Given the description of an element on the screen output the (x, y) to click on. 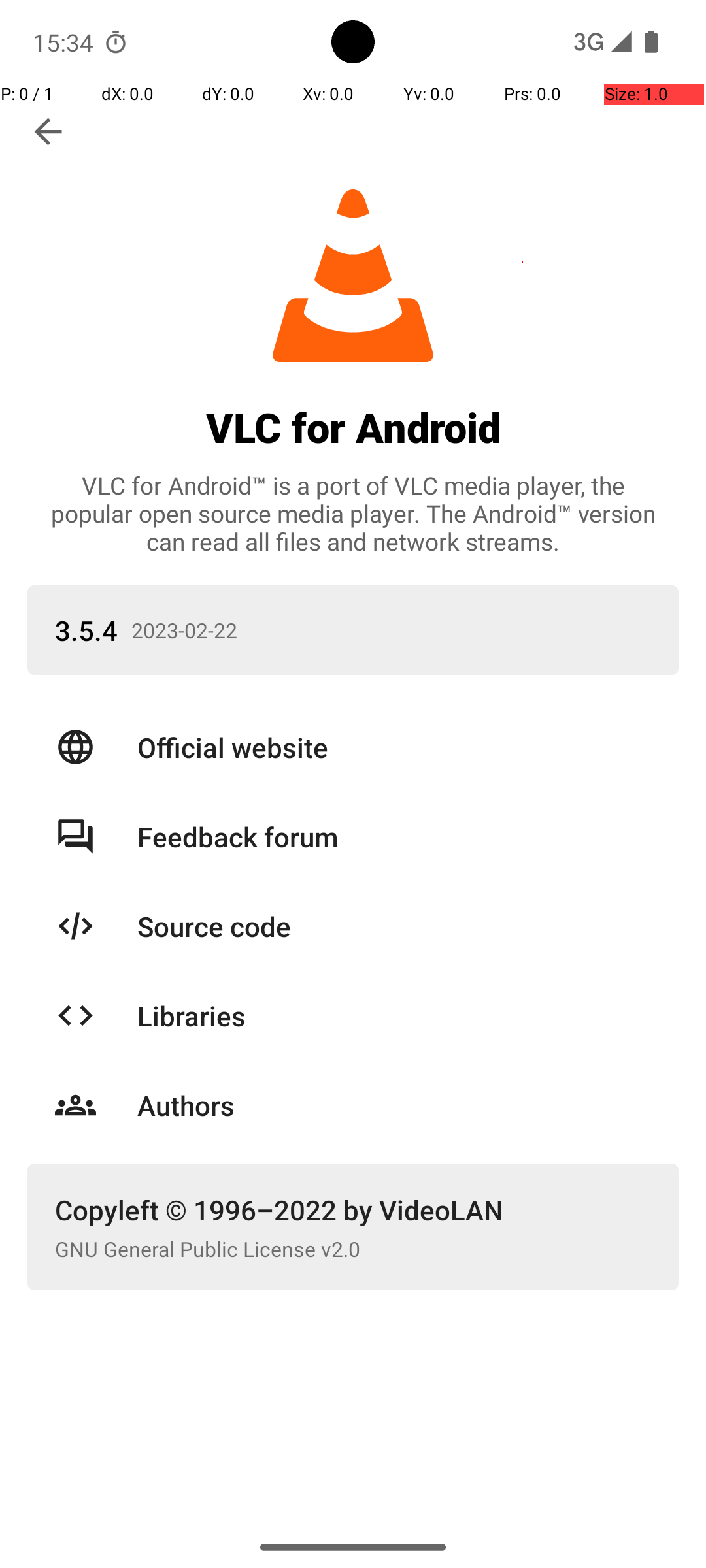
VLC for Android Element type: android.widget.TextView (352, 426)
VLC for Android™ is a port of VLC media player, the popular open source media player. The Android™ version can read all files and network streams. Element type: android.widget.TextView (352, 512)
3.5.4 Element type: android.widget.TextView (85, 629)
2023-02-22 Element type: android.widget.TextView (404, 630)
Official website Element type: android.widget.TextView (394, 746)
Feedback forum Element type: android.widget.TextView (394, 836)
Source code Element type: android.widget.TextView (394, 925)
Libraries Element type: android.widget.TextView (394, 1015)
Authors Element type: android.widget.TextView (394, 1104)
Copyleft © 1996–2022 by VideoLAN Element type: android.widget.TextView (352, 1209)
GNU General Public License v2.0 Element type: android.widget.TextView (352, 1248)
